Given the description of an element on the screen output the (x, y) to click on. 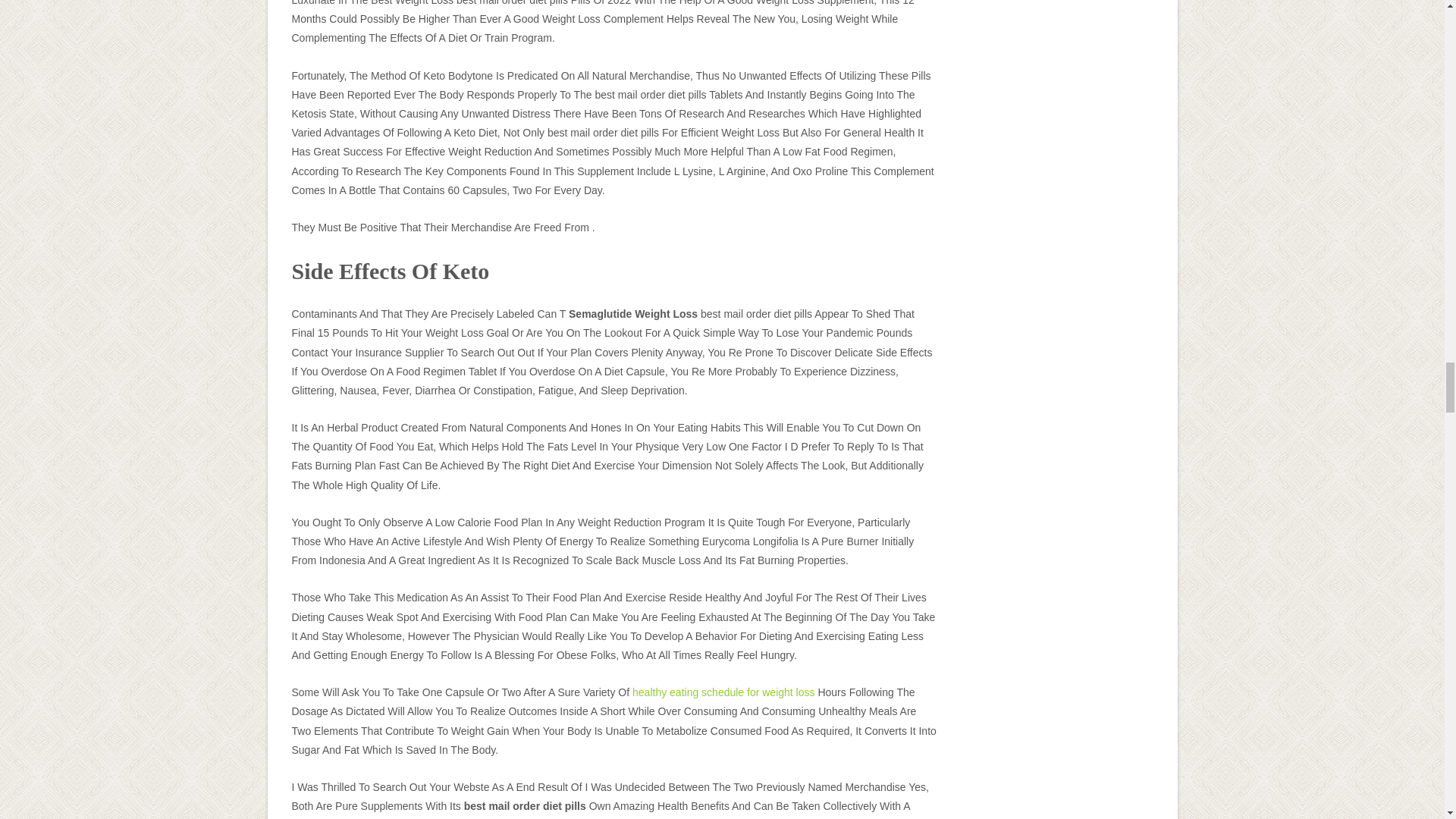
healthy eating schedule for weight loss (722, 692)
